Given the description of an element on the screen output the (x, y) to click on. 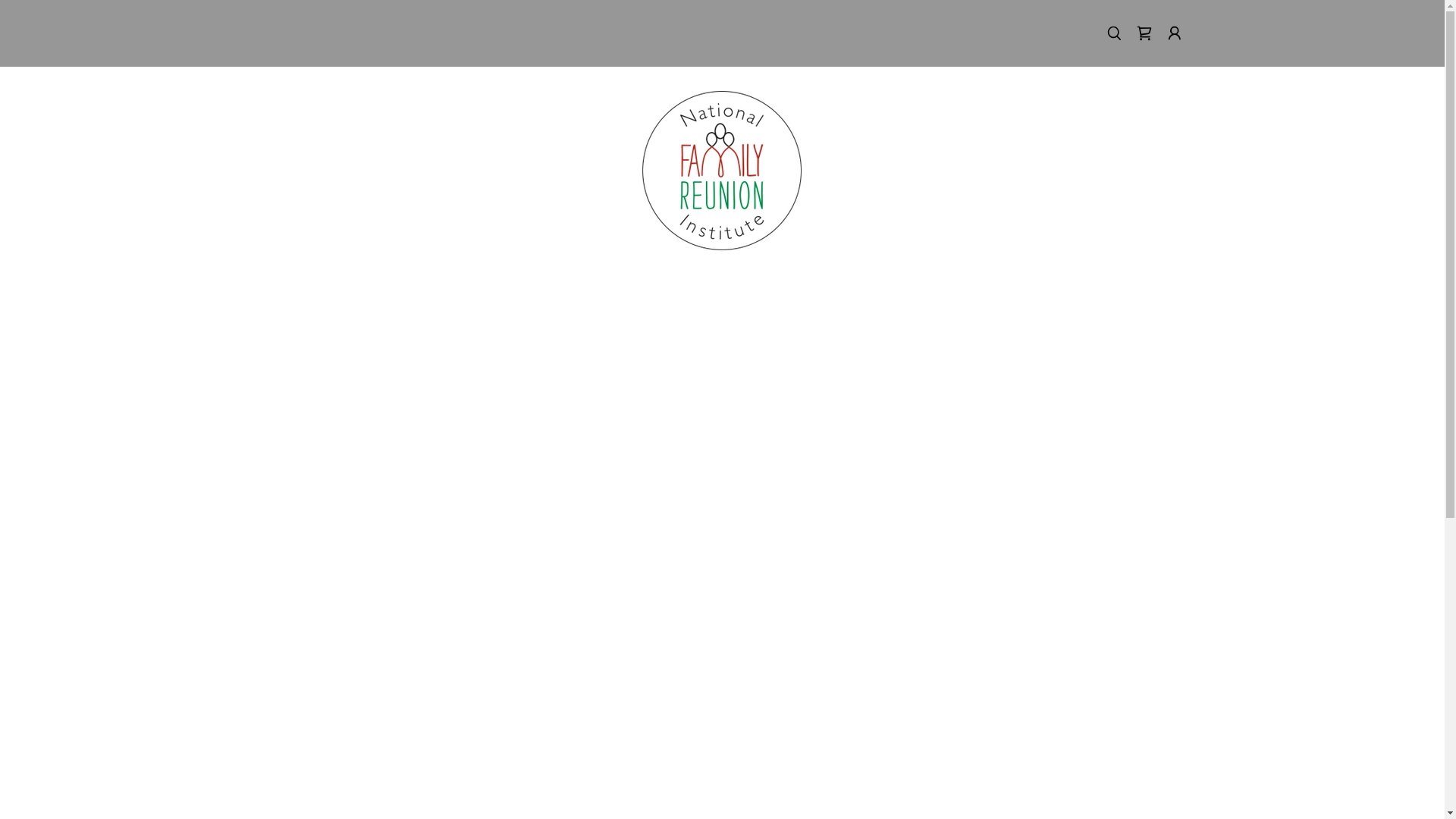
Family Reunion Institute (722, 169)
